Given the description of an element on the screen output the (x, y) to click on. 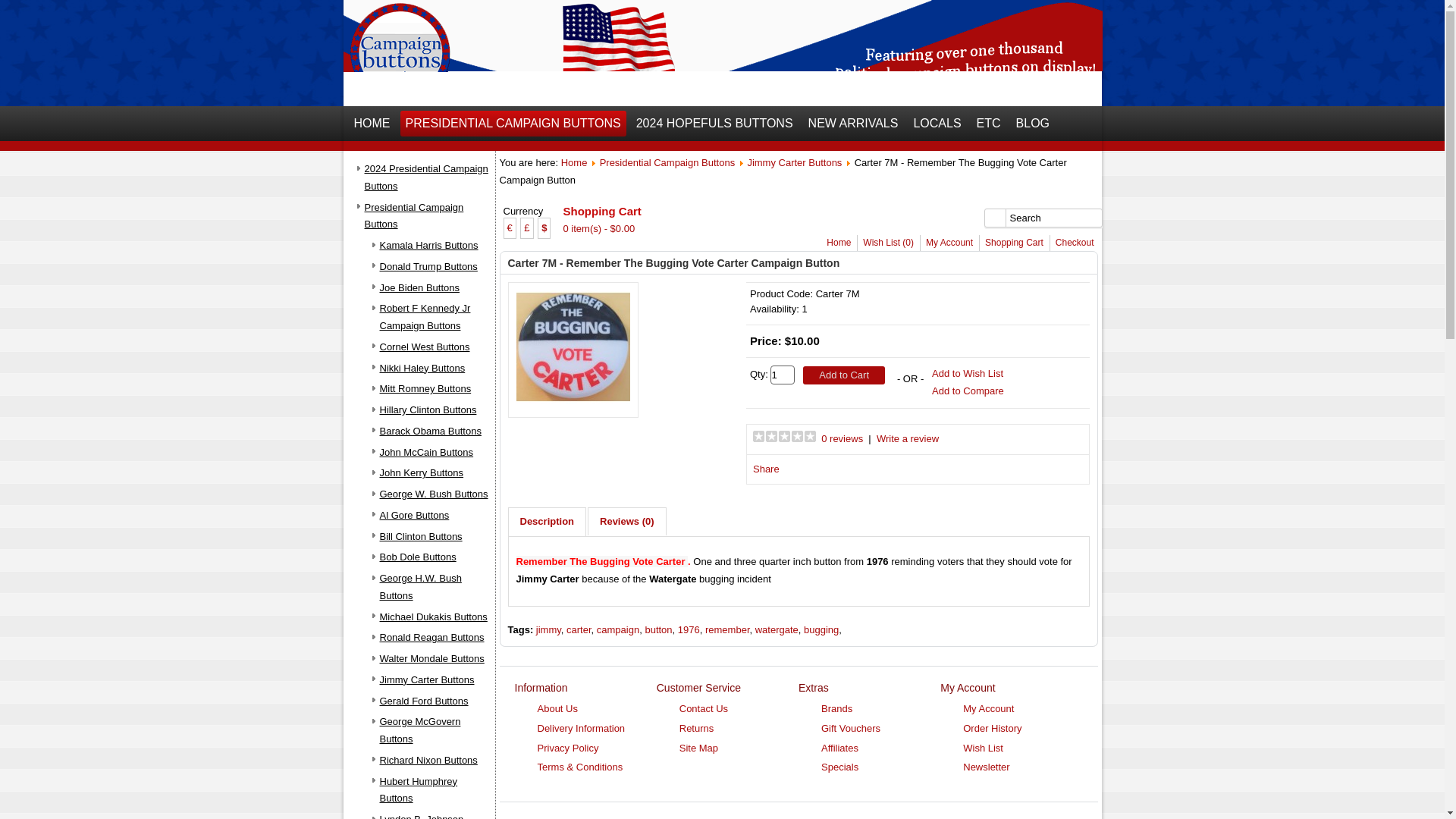
Search (1043, 217)
Carter 7M - Remember The Bugging Vote Carter Campaign Button (571, 346)
Carter 7M - Remember The Bugging Vote Carter Campaign Button (571, 399)
Add to Cart (844, 375)
1 (782, 374)
HOME (372, 123)
PRESIDENTIAL CAMPAIGN BUTTONS (513, 123)
